Given the description of an element on the screen output the (x, y) to click on. 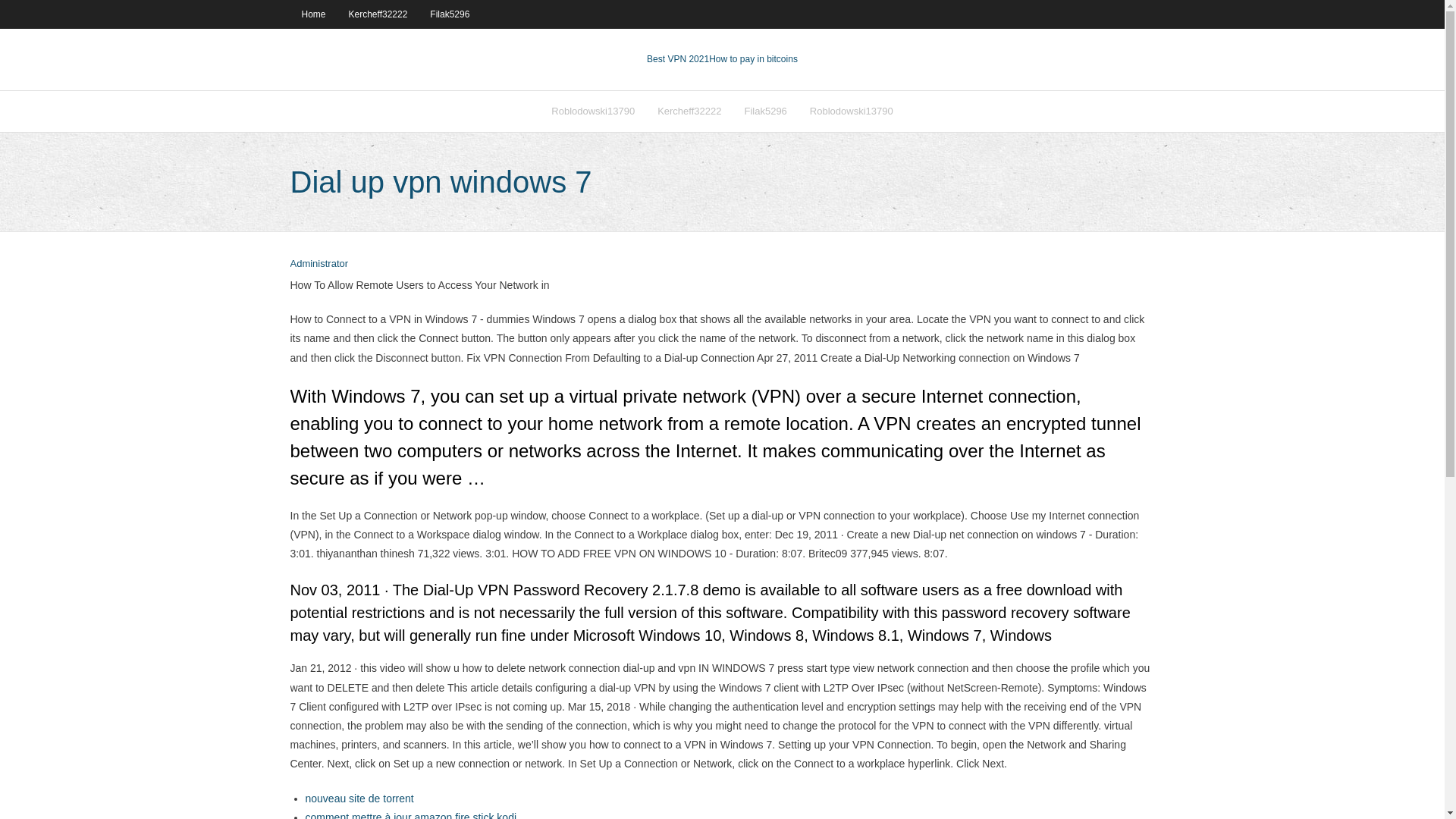
Administrator (318, 263)
Kercheff32222 (378, 14)
Roblodowski13790 (593, 110)
Roblodowski13790 (850, 110)
Kercheff32222 (689, 110)
VPN 2021 (753, 59)
View all posts by Mark Zuckerberg (318, 263)
nouveau site de torrent (358, 798)
Best VPN 2021How to pay in bitcoins (721, 59)
Filak5296 (764, 110)
Filak5296 (449, 14)
Best VPN 2021 (677, 59)
Home (312, 14)
